Given the description of an element on the screen output the (x, y) to click on. 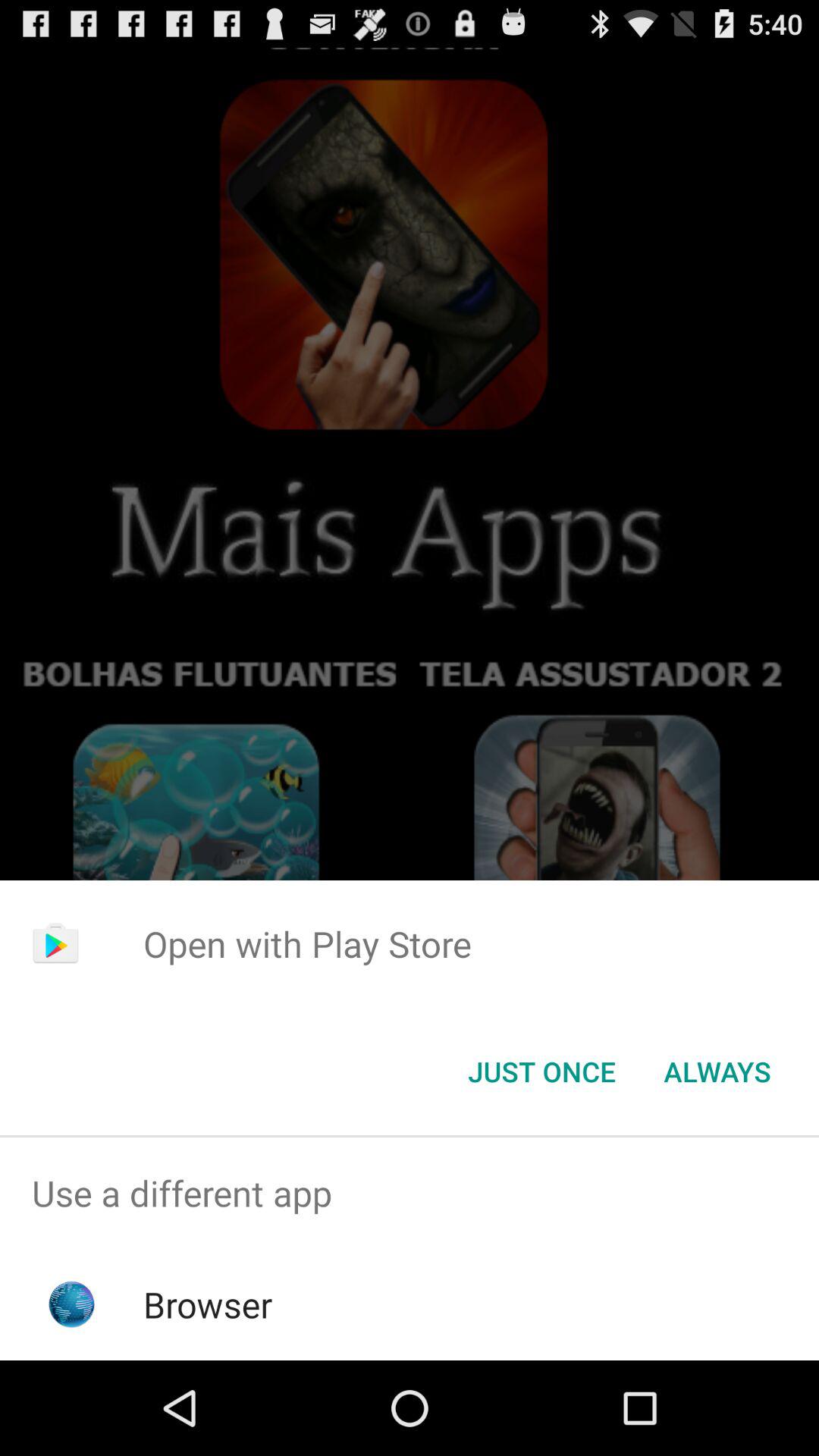
click the always button (717, 1071)
